Given the description of an element on the screen output the (x, y) to click on. 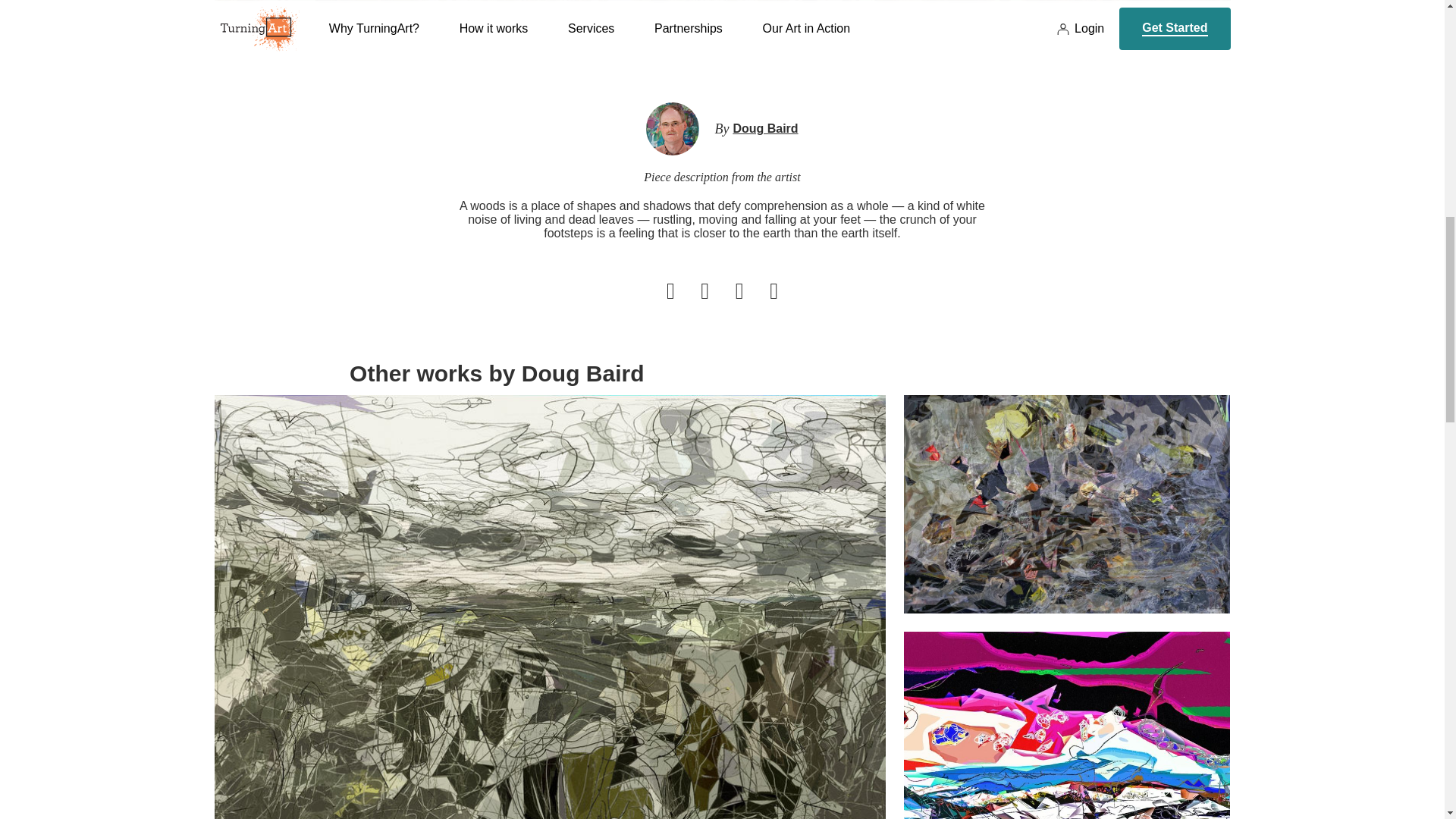
Doug Baird (764, 128)
